Given the description of an element on the screen output the (x, y) to click on. 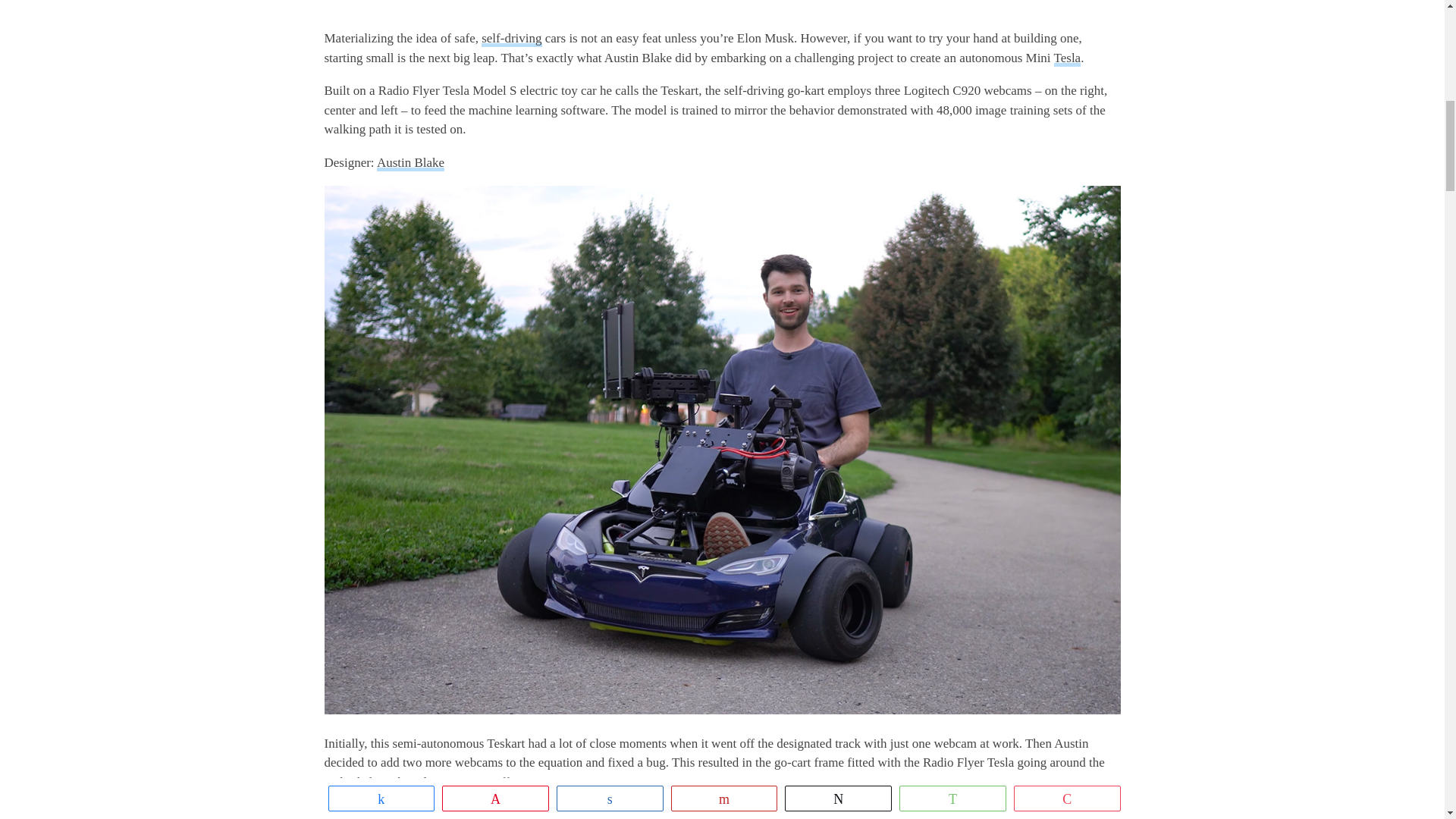
Building a Self-Driving Go Kart (722, 7)
